Given the description of an element on the screen output the (x, y) to click on. 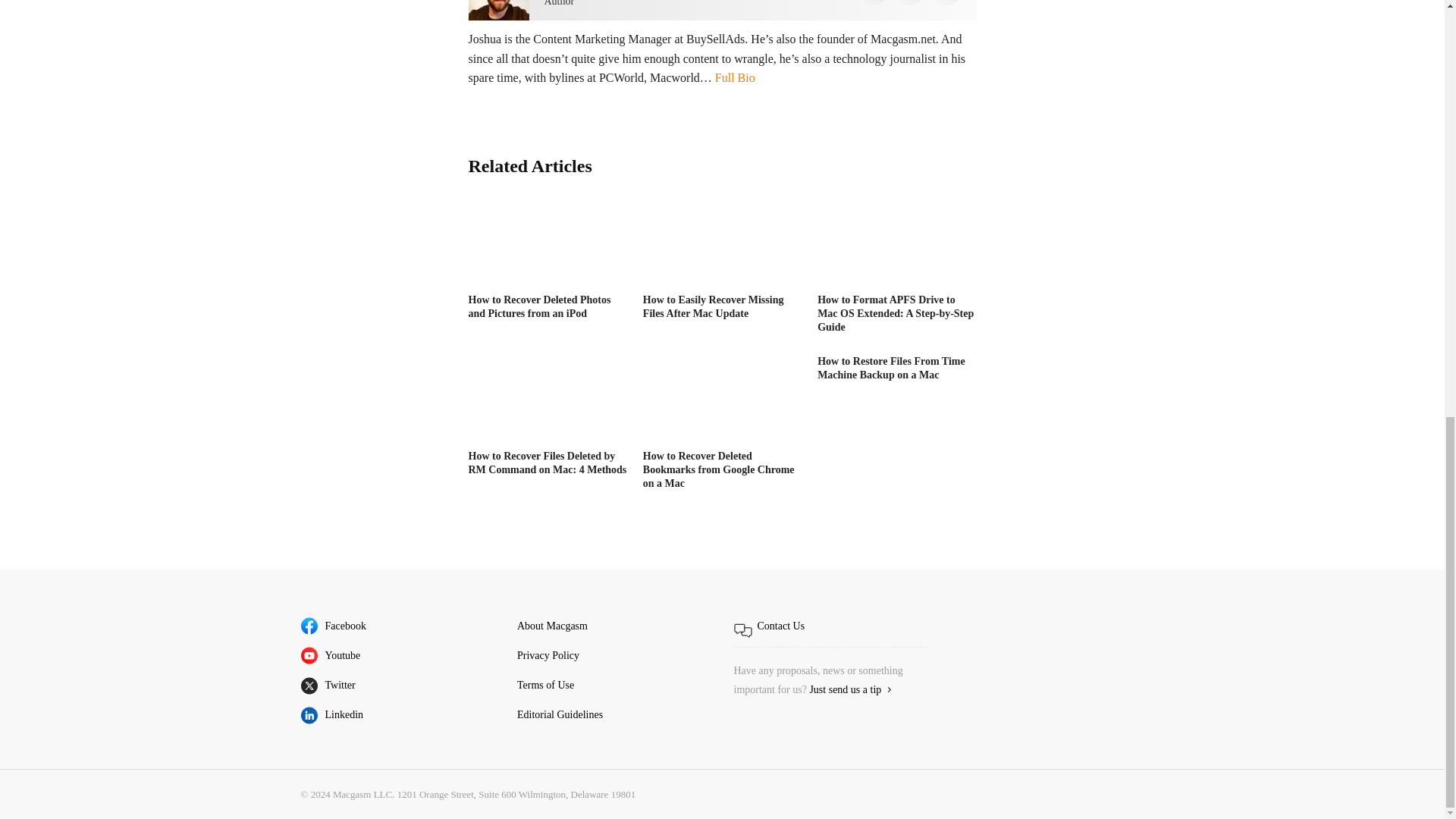
Digg (873, 2)
Twitter (945, 2)
How to Easily Recover Missing Files After Mac Update (713, 306)
How to Recover Deleted Photos and Pictures from an iPod (539, 306)
How to Recover Deleted Photos and Pictures from an iPod (539, 306)
Joshua Schnell (498, 10)
How to Recover Deleted Photos and Pictures from an iPod (547, 243)
Linkedin (909, 2)
Full Bio (734, 77)
How to Easily Recover Missing Files After Mac Update (722, 243)
